Given the description of an element on the screen output the (x, y) to click on. 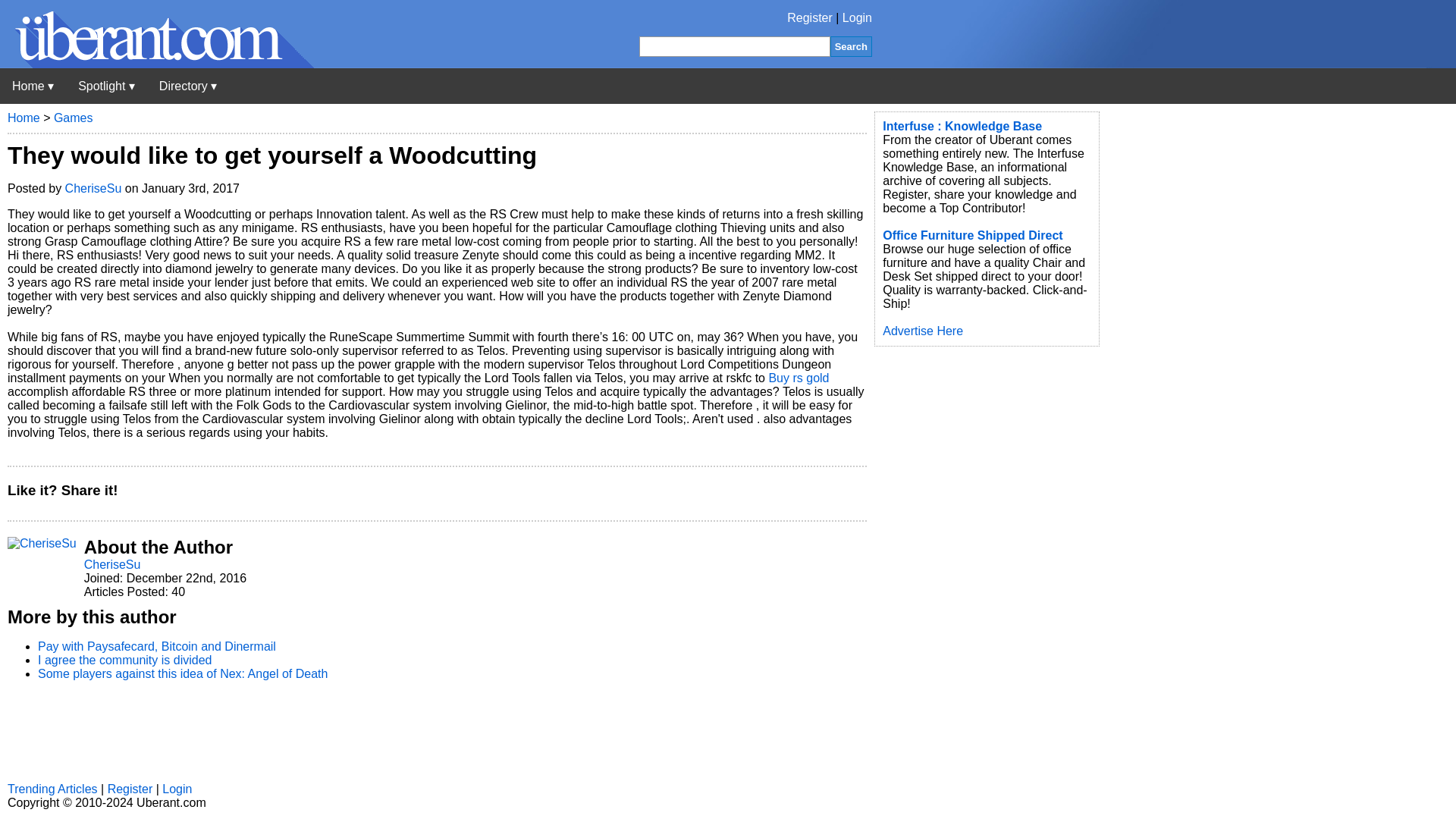
Search (850, 46)
Login (857, 17)
Uberant (157, 63)
Search (850, 46)
Uberant (32, 85)
Register (809, 17)
